Given the description of an element on the screen output the (x, y) to click on. 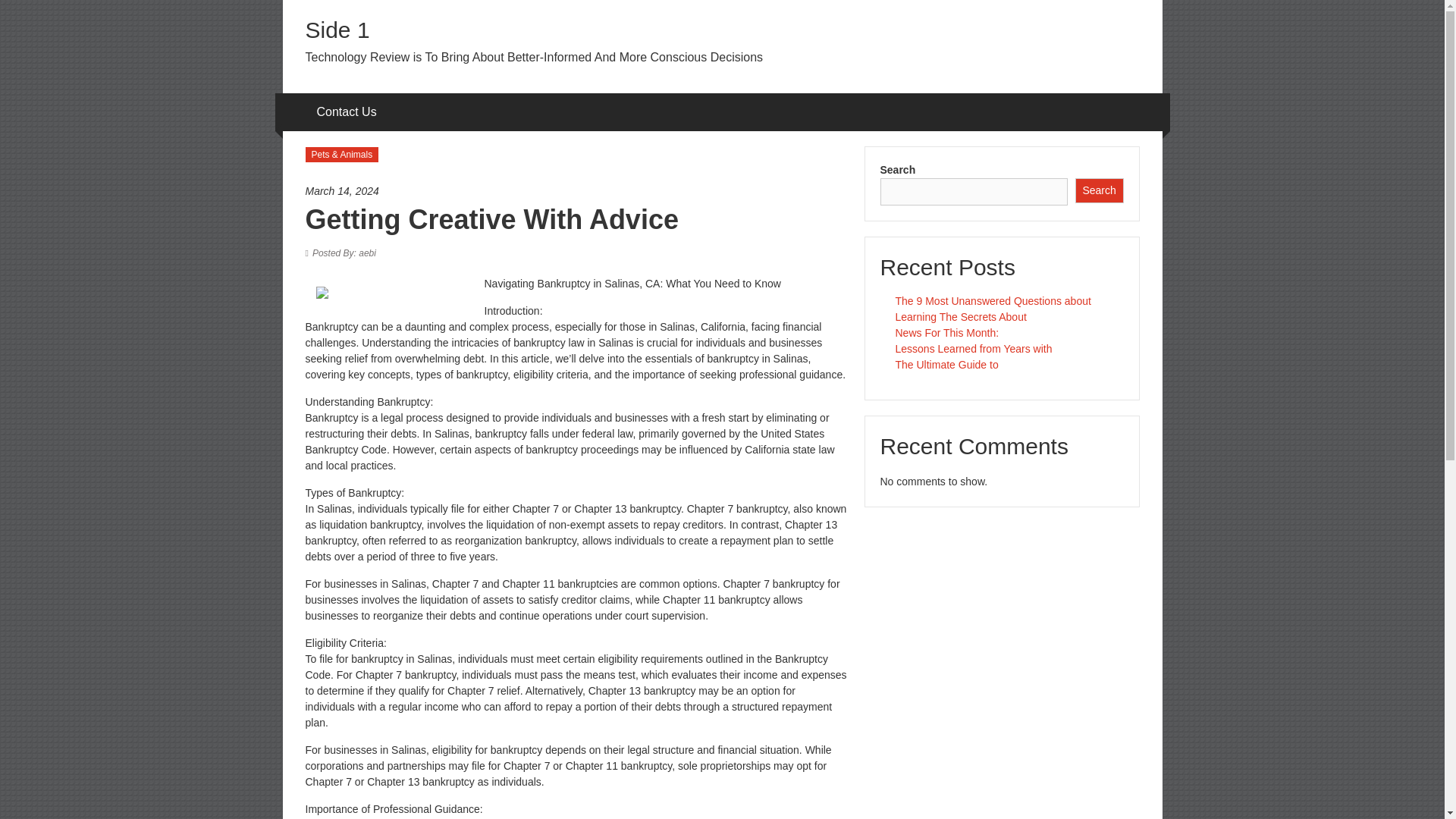
Contact Us (347, 112)
The Ultimate Guide to (946, 364)
Search (1099, 190)
News For This Month: (946, 332)
Lessons Learned from Years with (973, 348)
March 14, 2024 (575, 191)
aebi (344, 253)
Side 1 (336, 29)
Learning The Secrets About (960, 316)
4:46 am (575, 191)
The 9 Most Unanswered Questions about (992, 300)
Posted By: aebi (344, 253)
Side 1 (336, 29)
